Given the description of an element on the screen output the (x, y) to click on. 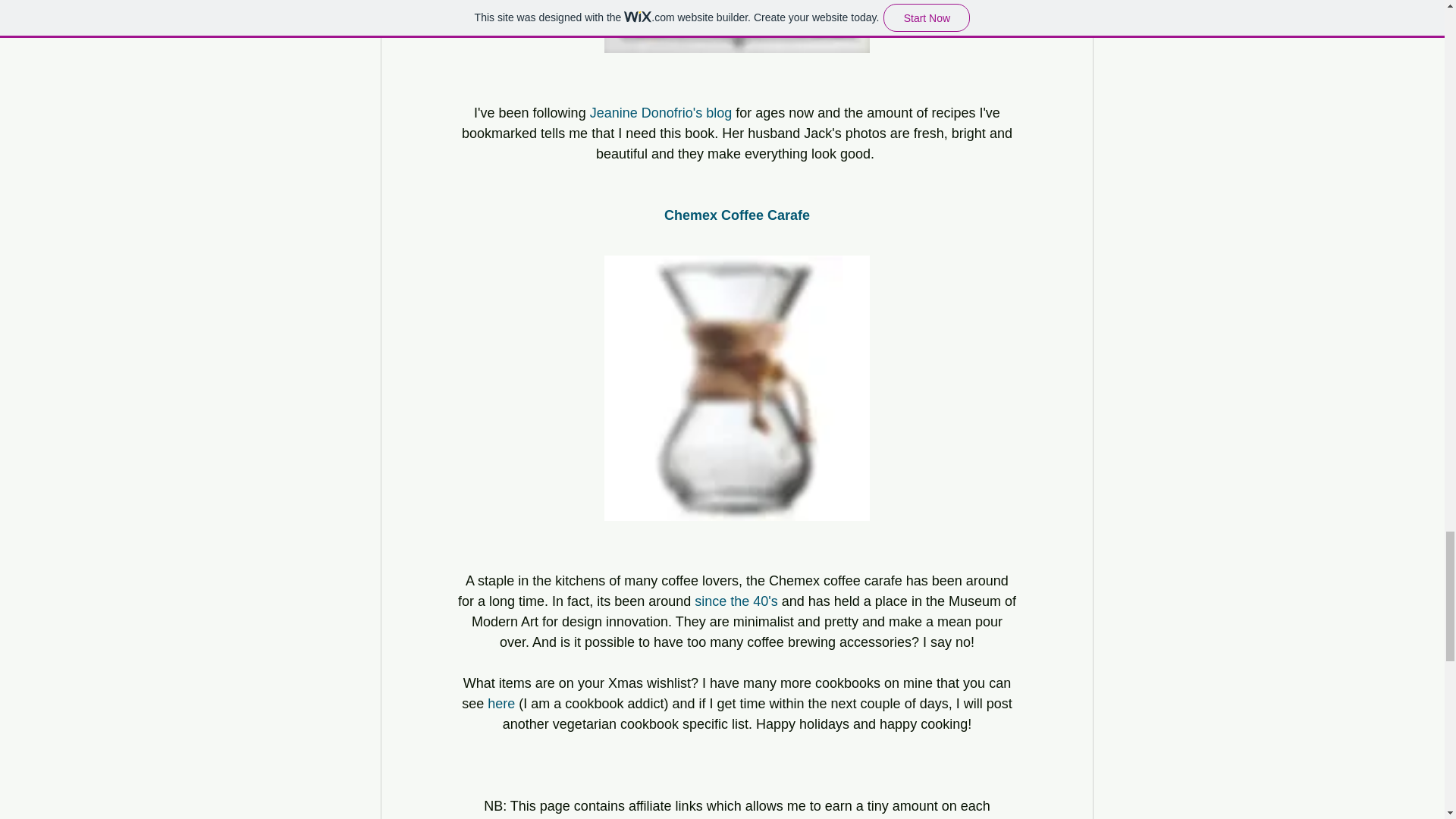
here (501, 702)
Chemex Coffee Carafe (736, 214)
since the 40's (735, 600)
Jeanine Donofrio's blog (660, 111)
